Given the description of an element on the screen output the (x, y) to click on. 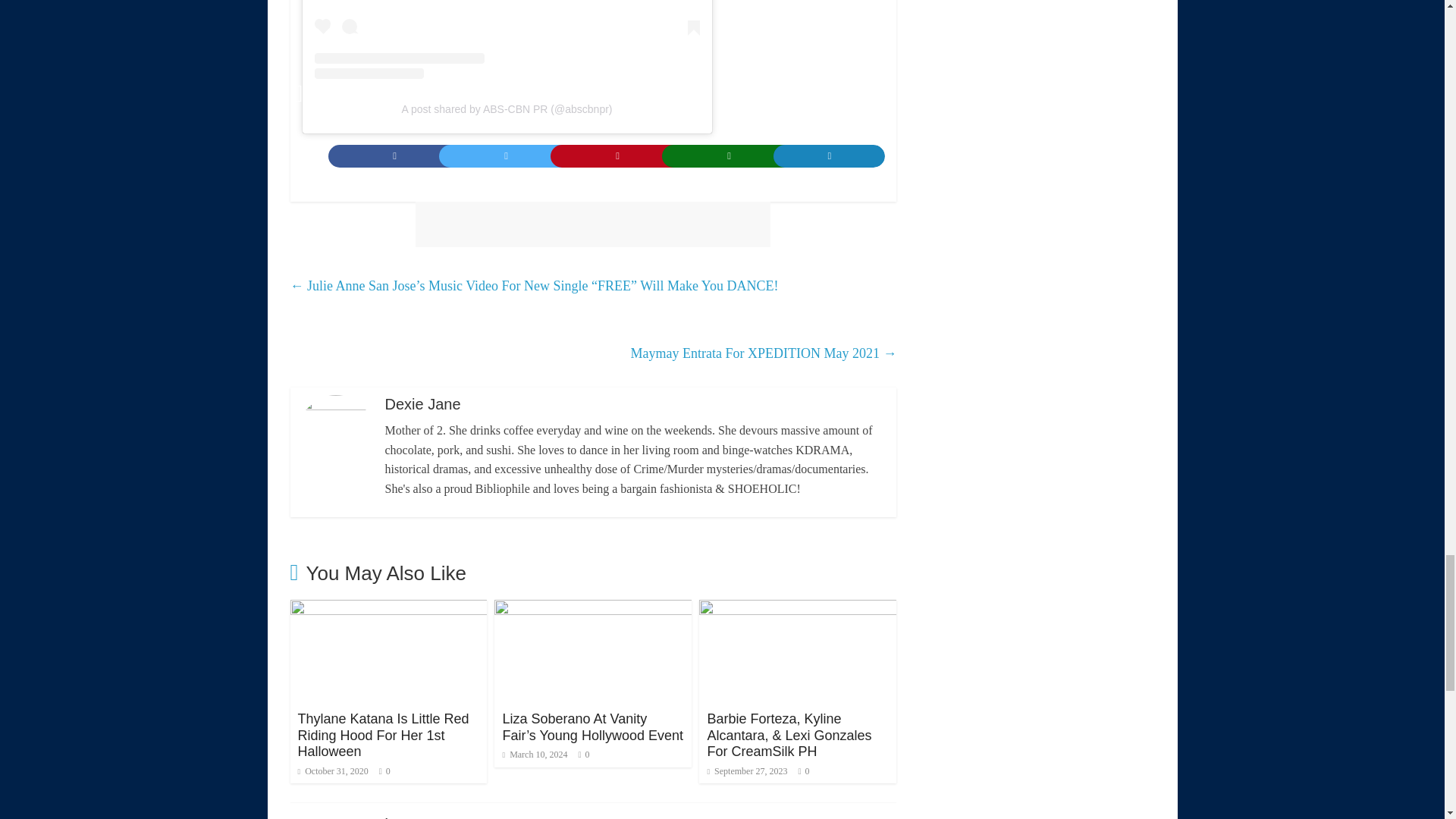
7:54 pm (332, 770)
9:32 am (534, 754)
